Given the description of an element on the screen output the (x, y) to click on. 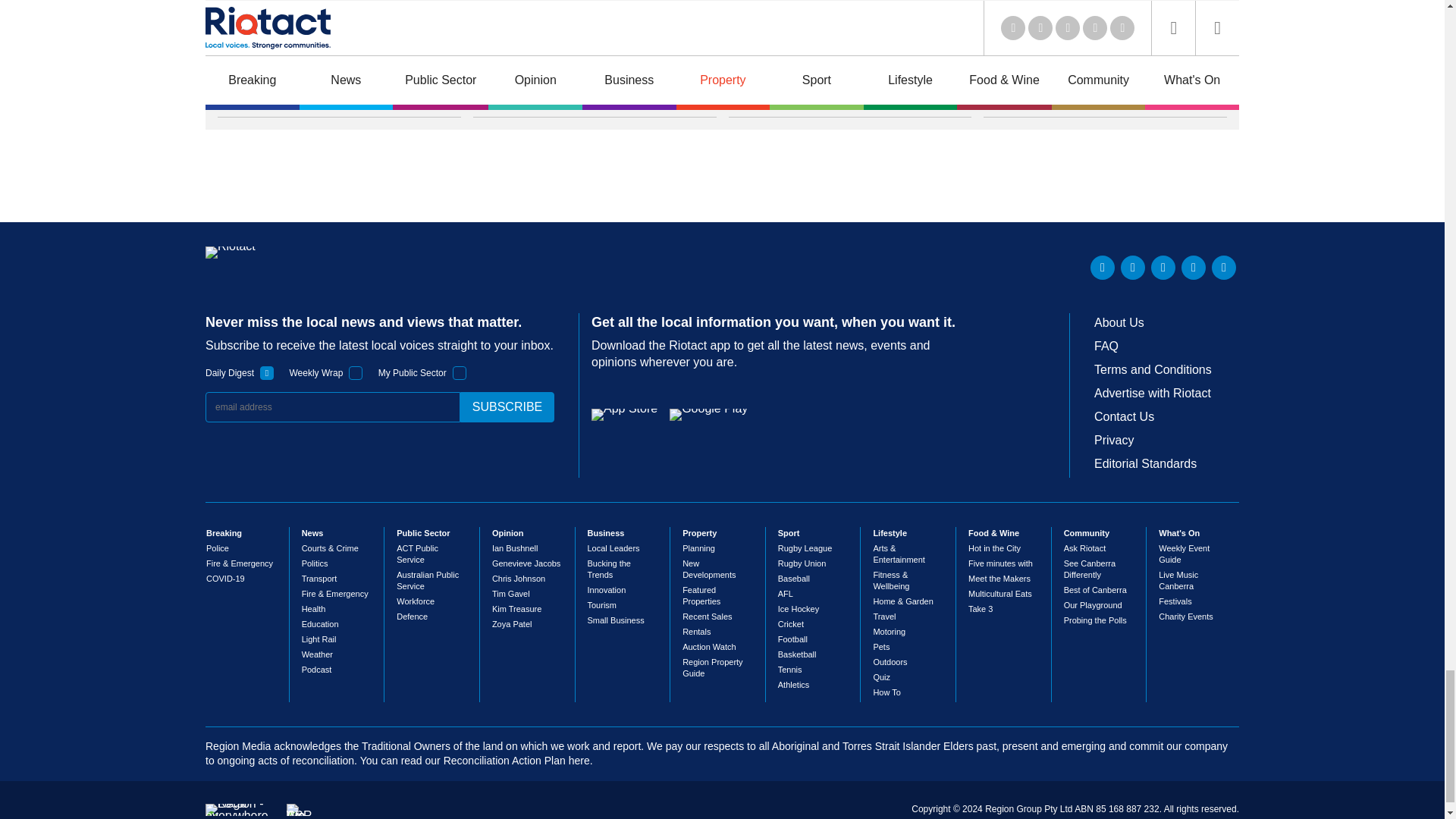
LinkedIn (1102, 266)
1 (266, 373)
1 (458, 373)
subscribe (507, 407)
1 (355, 373)
